Given the description of an element on the screen output the (x, y) to click on. 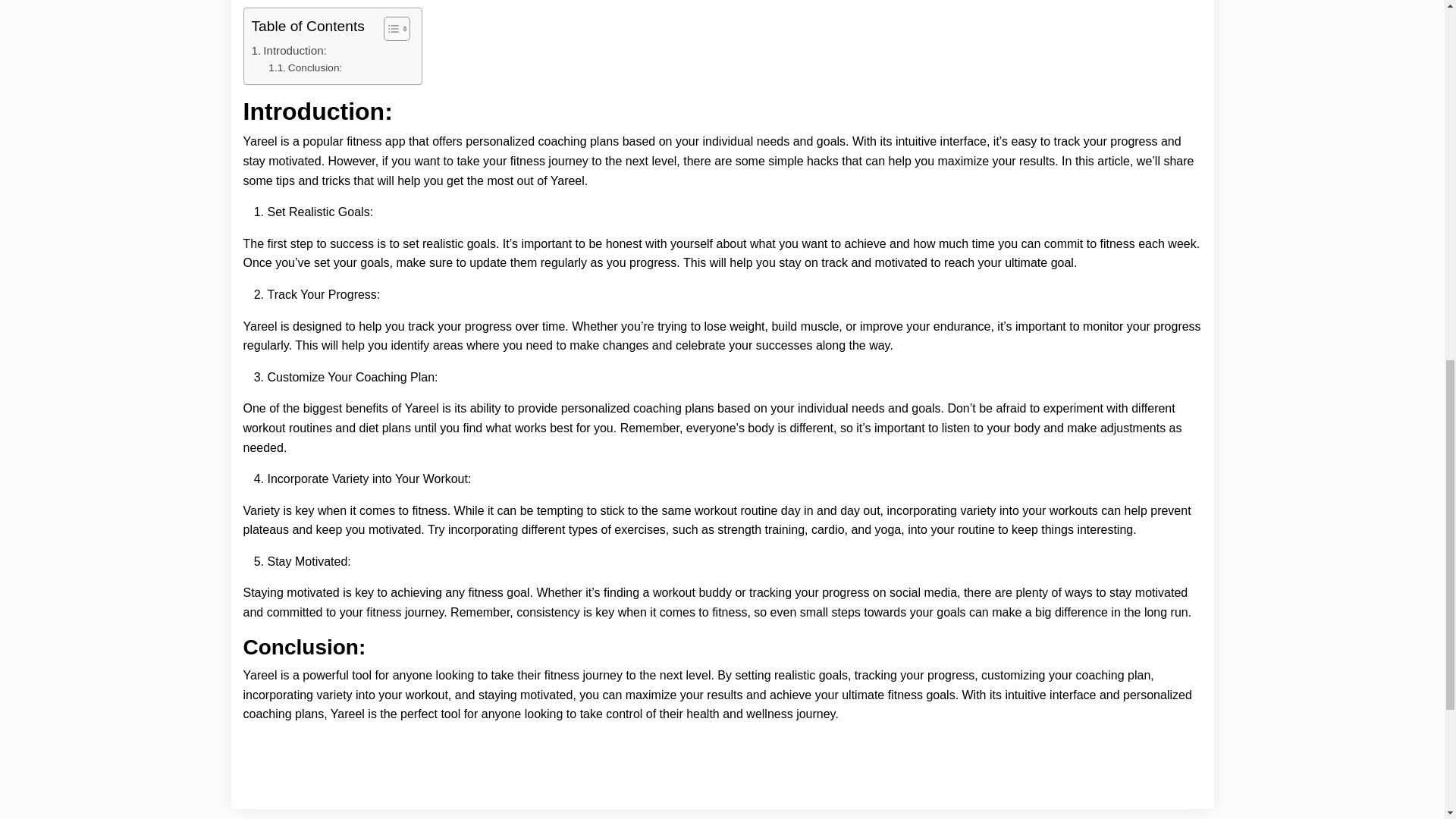
Conclusion: (304, 67)
Introduction: (288, 50)
Introduction: (288, 50)
Conclusion: (304, 67)
